Given the description of an element on the screen output the (x, y) to click on. 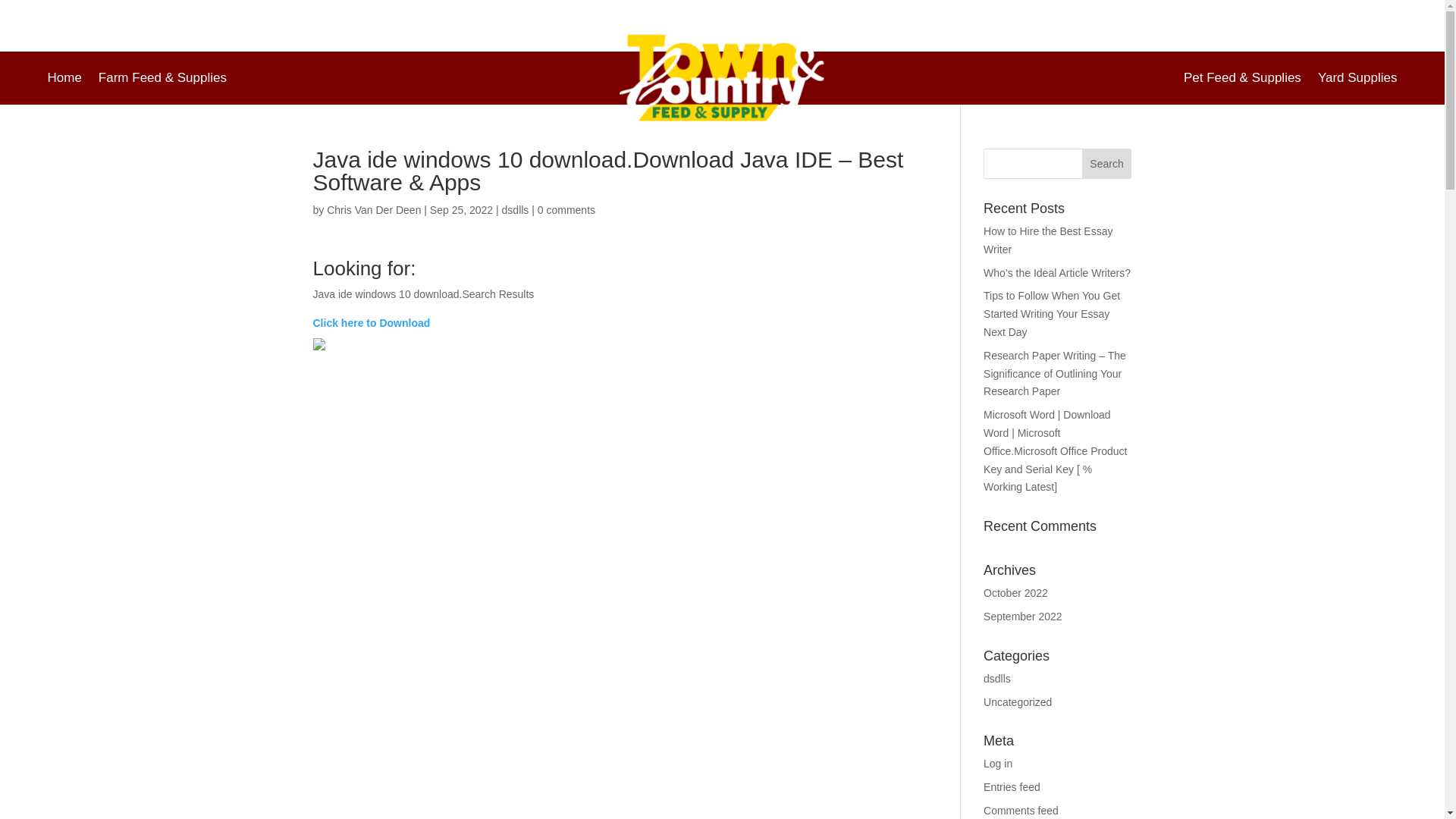
Visit us on Facebook (145, 14)
Yard Supplies (1357, 80)
250-342-9433 (879, 14)
Chris Van Der Deen (373, 209)
Home (63, 80)
logo (722, 77)
Posts by Chris Van Der Deen (373, 209)
dsdlls (515, 209)
0 comments (566, 209)
Search (1106, 163)
